Given the description of an element on the screen output the (x, y) to click on. 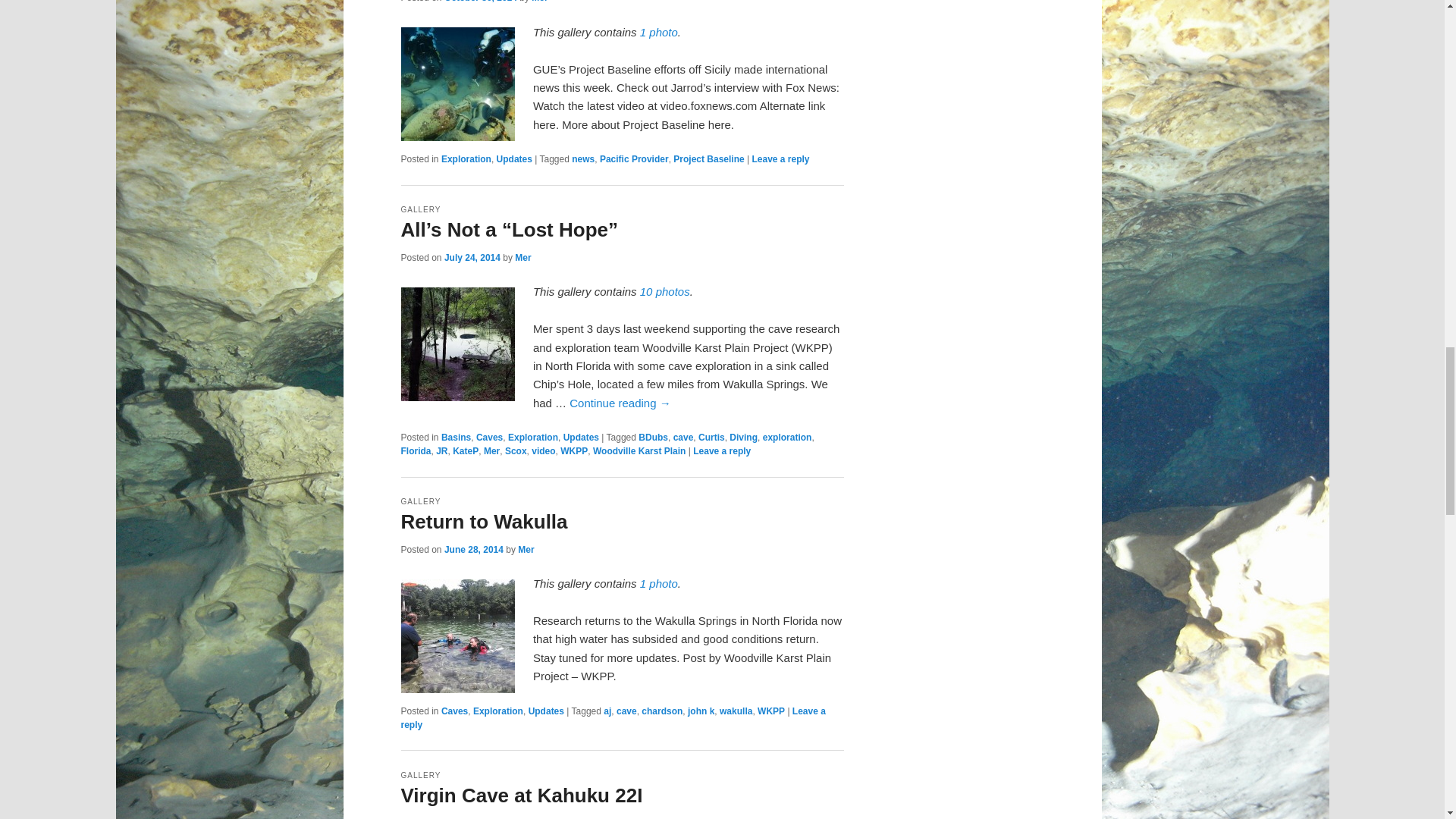
6:11 am (472, 257)
5:57 pm (480, 1)
Permalink to International News (659, 31)
View all posts by Mer (539, 1)
